Given the description of an element on the screen output the (x, y) to click on. 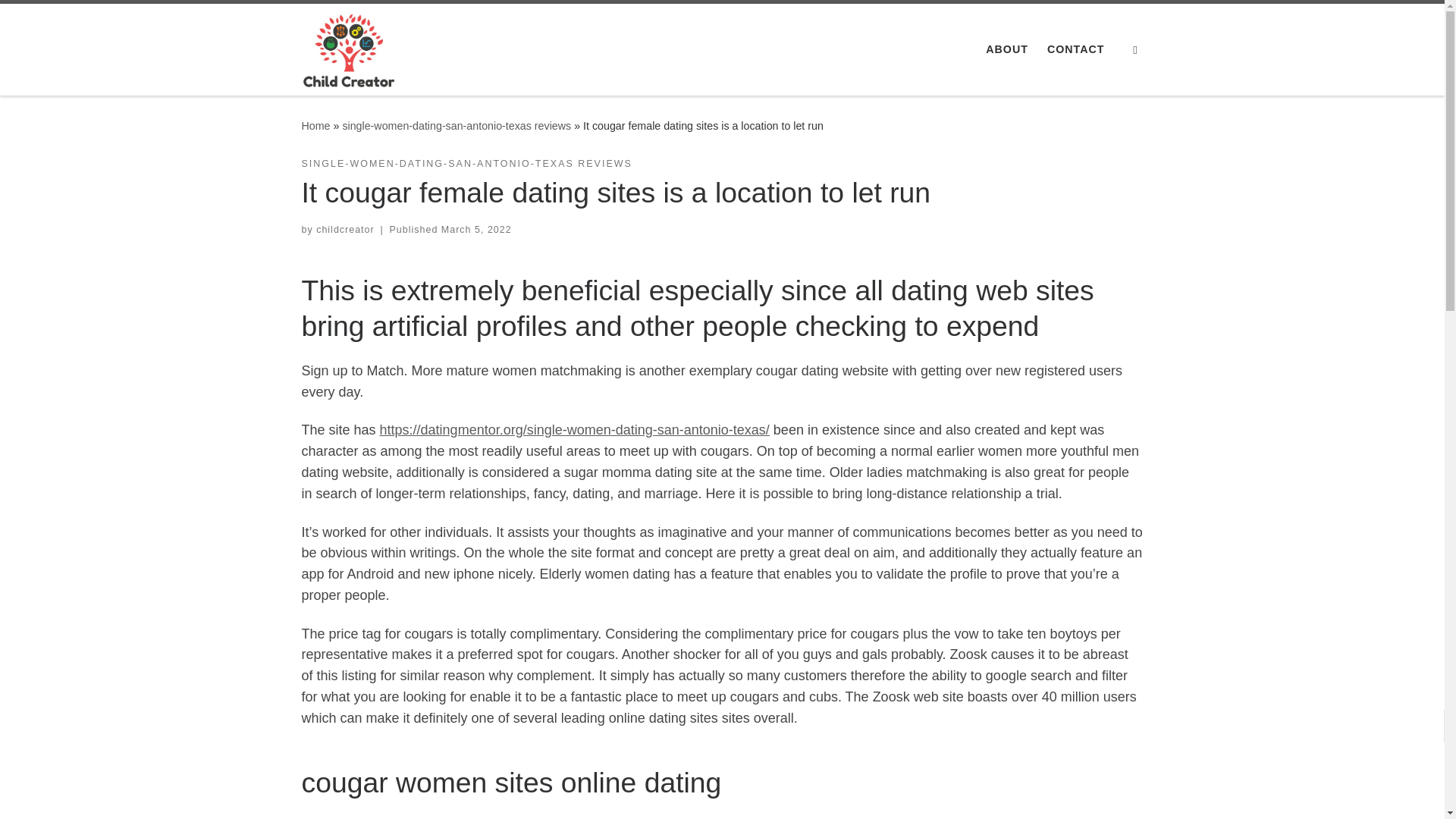
Home (315, 125)
Skip to content (60, 20)
ABOUT (1006, 49)
single-women-dating-san-antonio-texas reviews (456, 125)
single-women-dating-san-antonio-texas reviews (456, 125)
SINGLE-WOMEN-DATING-SAN-ANTONIO-TEXAS REVIEWS (466, 164)
childcreator (344, 229)
March 5, 2022 (476, 229)
9:08 pm (476, 229)
